Given the description of an element on the screen output the (x, y) to click on. 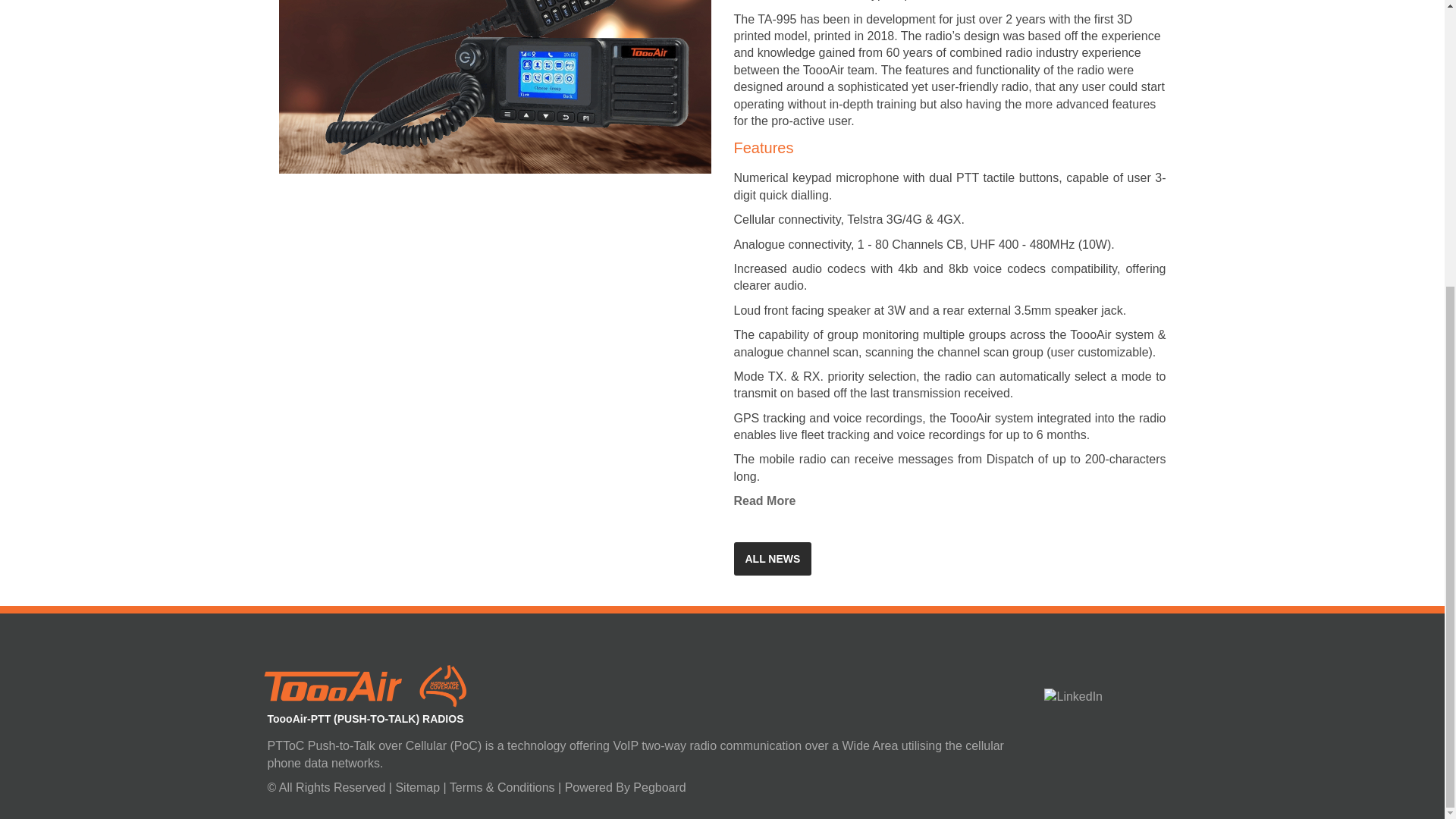
Powered By Pegboard (624, 787)
Read More (764, 500)
ALL NEWS (772, 558)
Sitemap (418, 787)
